Given the description of an element on the screen output the (x, y) to click on. 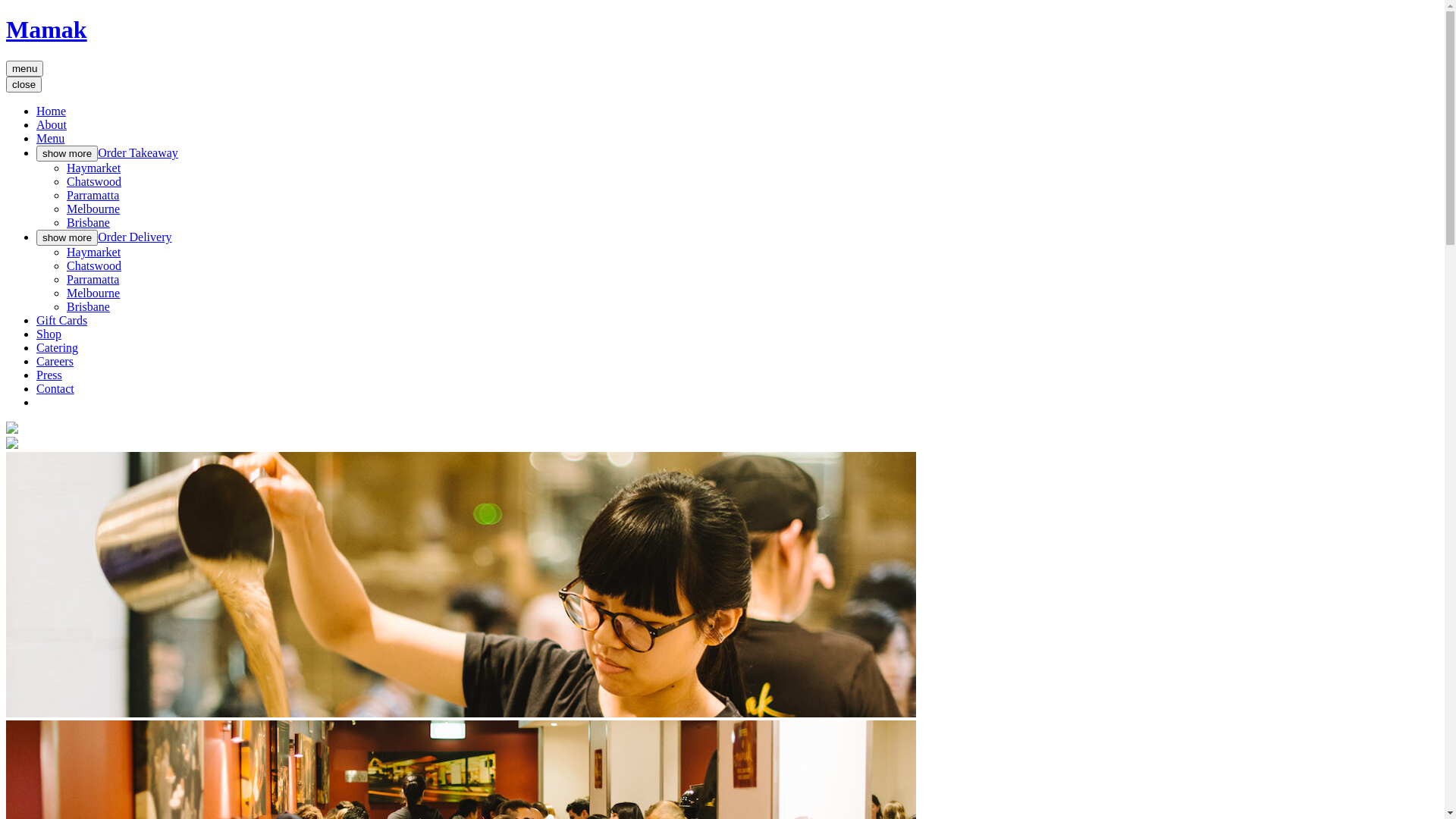
Melbourne Element type: text (92, 208)
menu Element type: text (24, 68)
Chatswood Element type: text (93, 181)
Chatswood Element type: text (93, 265)
Catering Element type: text (57, 347)
Press Element type: text (49, 374)
Brisbane Element type: text (87, 306)
Order Takeaway Element type: text (137, 152)
Melbourne Element type: text (92, 292)
Parramatta Element type: text (92, 194)
show more Element type: text (66, 237)
Gift Cards Element type: text (61, 319)
Haymarket Element type: text (93, 251)
Brisbane Element type: text (87, 222)
Haymarket Element type: text (93, 167)
Home Element type: text (50, 110)
Contact Element type: text (55, 388)
Order Delivery Element type: text (134, 236)
close Element type: text (23, 84)
Menu Element type: text (50, 137)
Mamak Element type: text (46, 29)
About Element type: text (51, 124)
Shop Element type: text (48, 333)
Parramatta Element type: text (92, 279)
show more Element type: text (66, 153)
Careers Element type: text (54, 360)
